Given the description of an element on the screen output the (x, y) to click on. 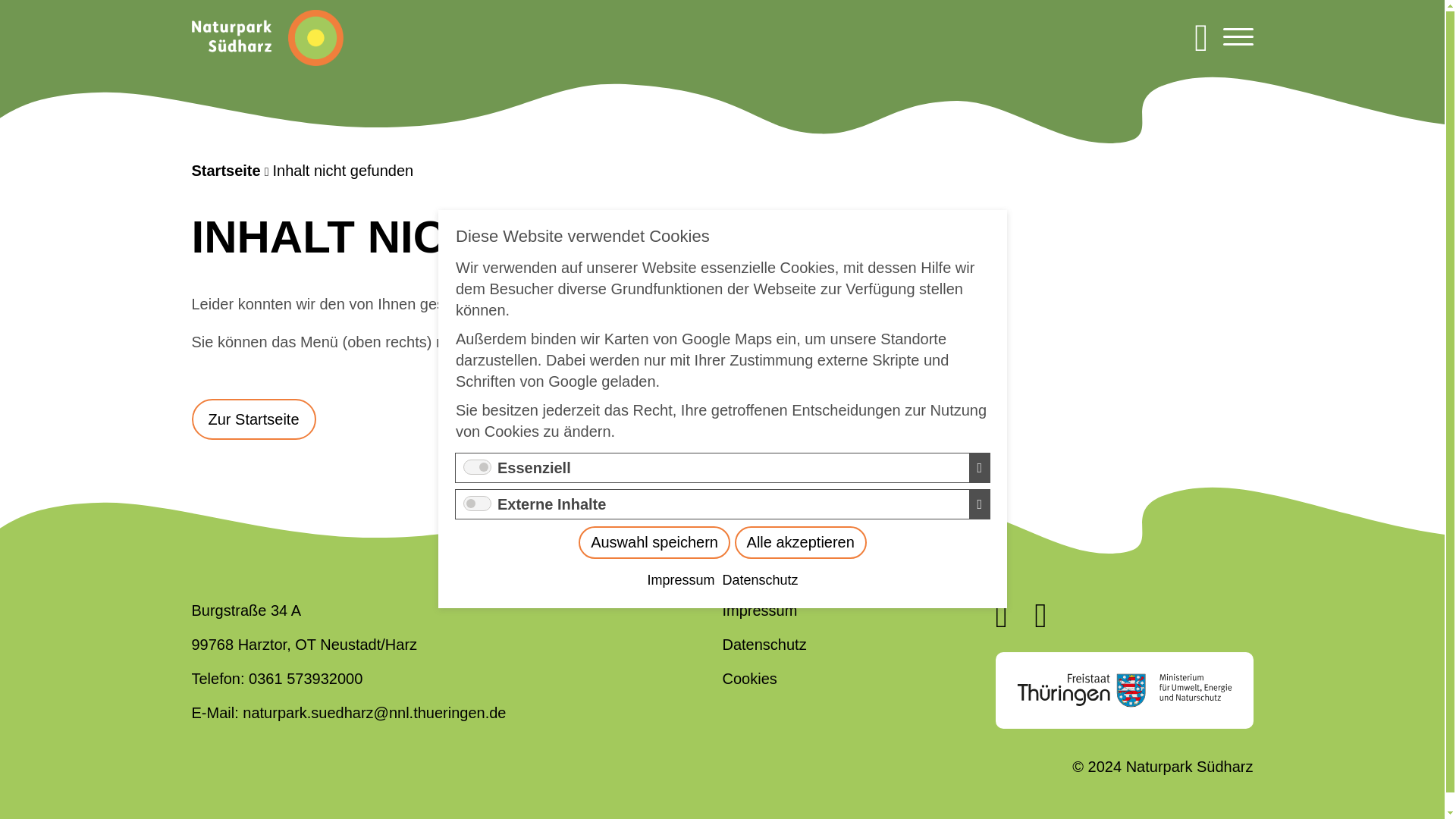
Datenschutz (759, 465)
Alle akzeptieren (789, 447)
Impressum (737, 456)
Auswahl speichern (785, 438)
